Given the description of an element on the screen output the (x, y) to click on. 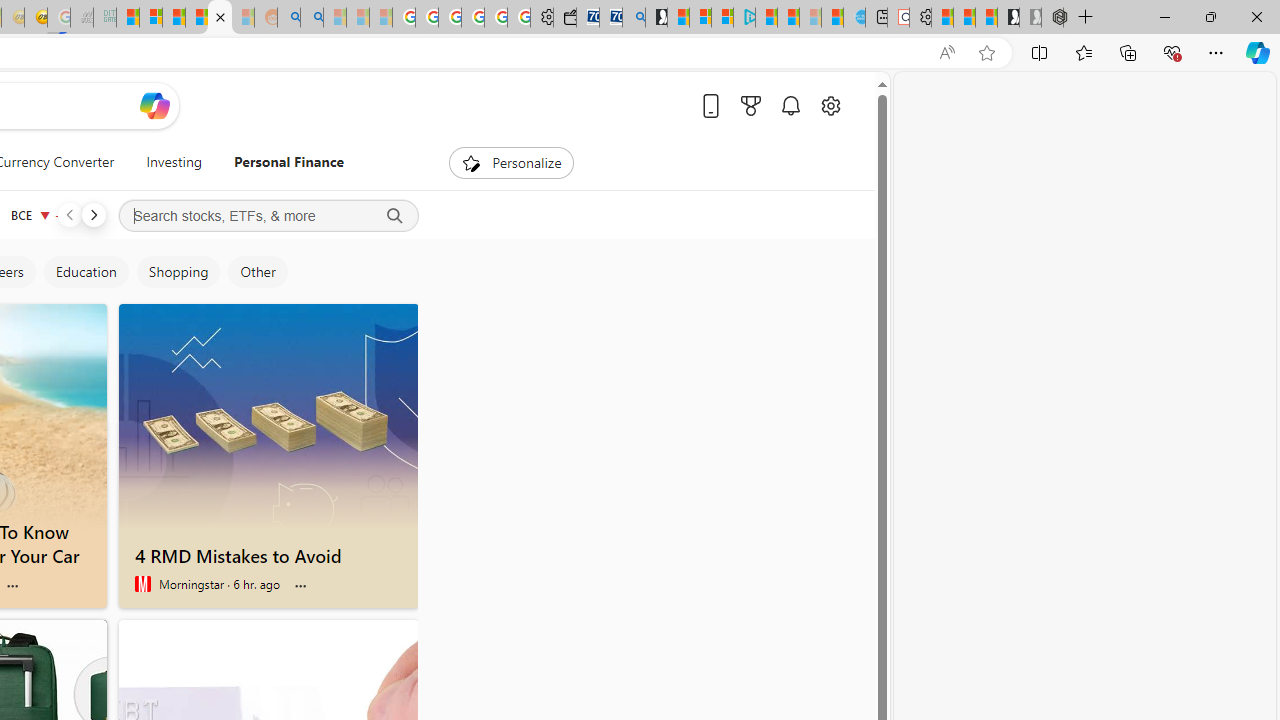
Morningstar (142, 583)
Previous (69, 214)
